Given the description of an element on the screen output the (x, y) to click on. 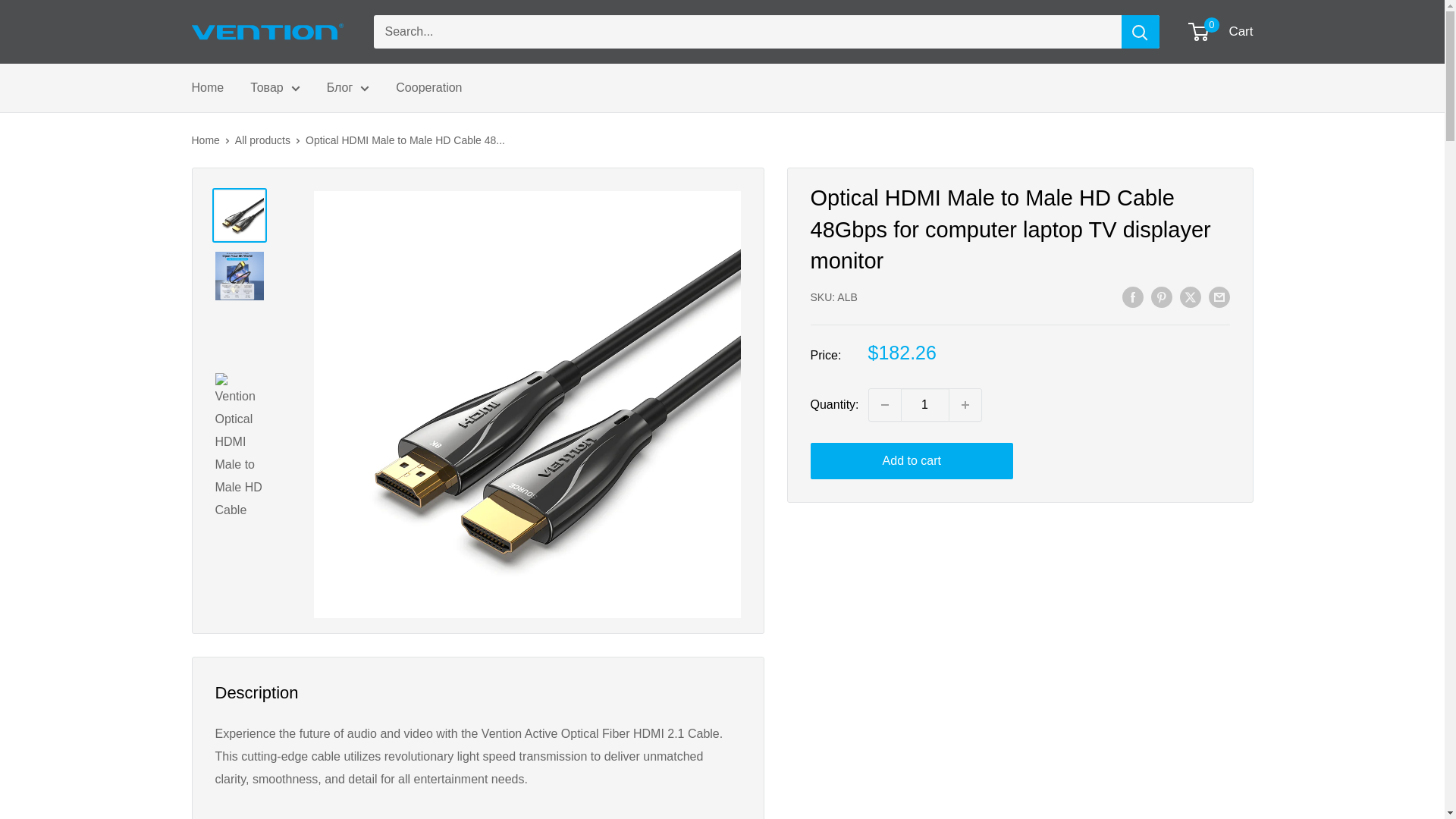
Decrease quantity by 1 (885, 404)
1 (925, 404)
Increase quantity by 1 (965, 404)
